Given the description of an element on the screen output the (x, y) to click on. 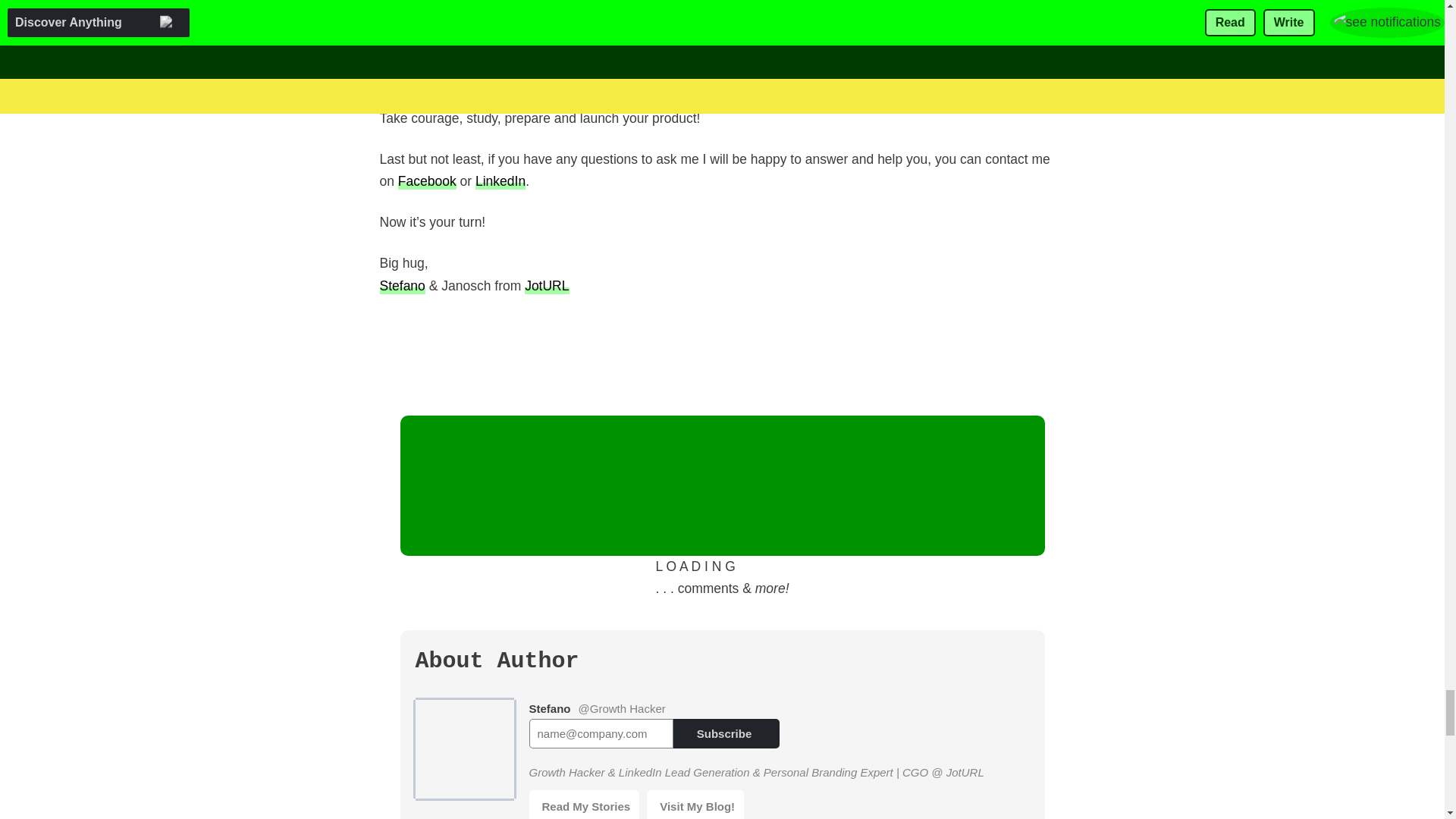
Read My Stories (584, 804)
Subscribe (725, 733)
Facebook (427, 180)
JotURL (546, 285)
Visit My Blog! (695, 804)
Stefano (401, 285)
LinkedIn (500, 180)
